Given the description of an element on the screen output the (x, y) to click on. 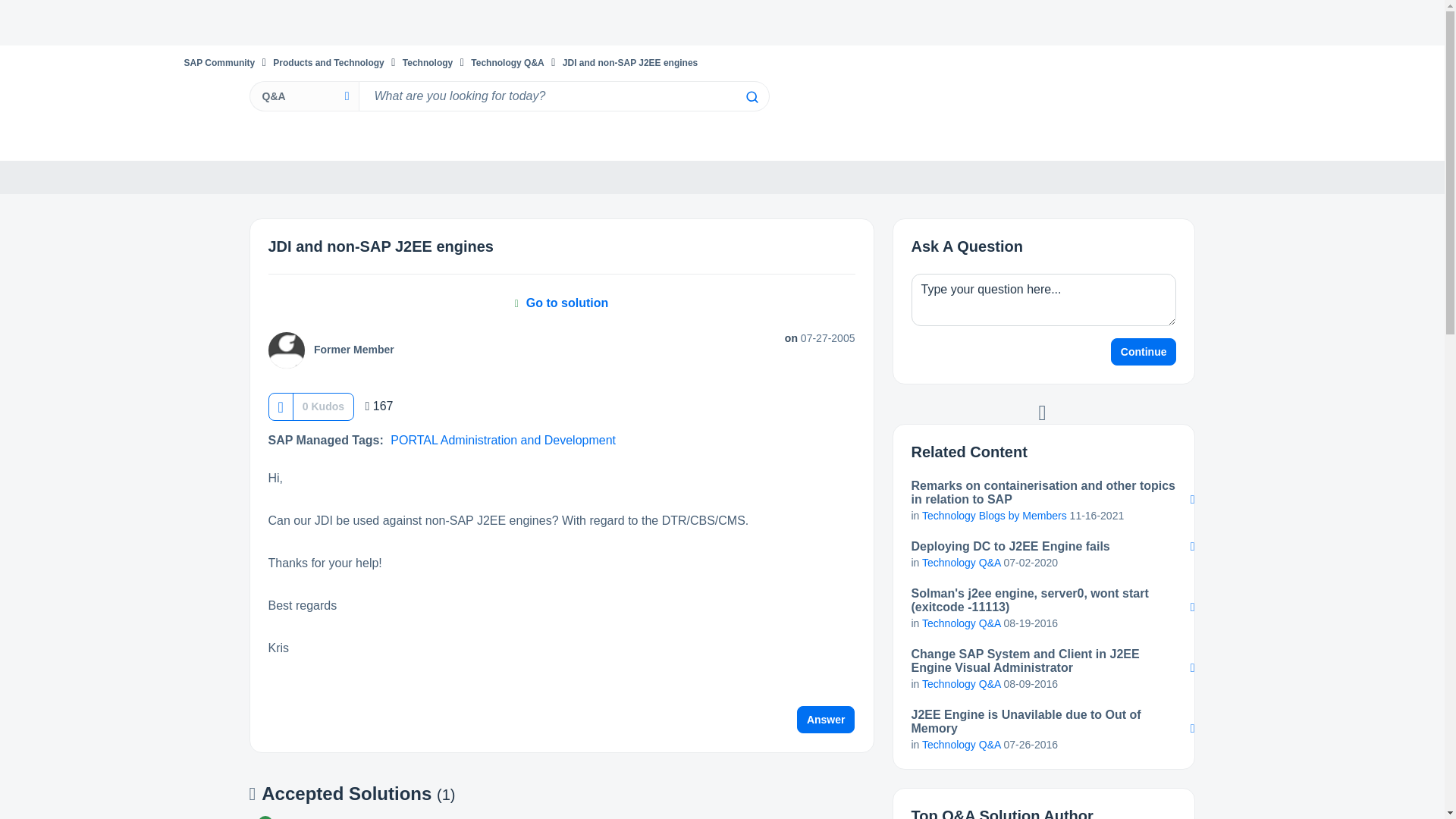
Technology Blogs by Members (994, 515)
Search (750, 96)
Search Granularity (303, 96)
Products and Technology (328, 62)
Search (750, 96)
Deploying DC to J2EE Engine fails (1043, 546)
Continue (1143, 351)
SAP Community (218, 62)
Go to solution (561, 302)
